Given the description of an element on the screen output the (x, y) to click on. 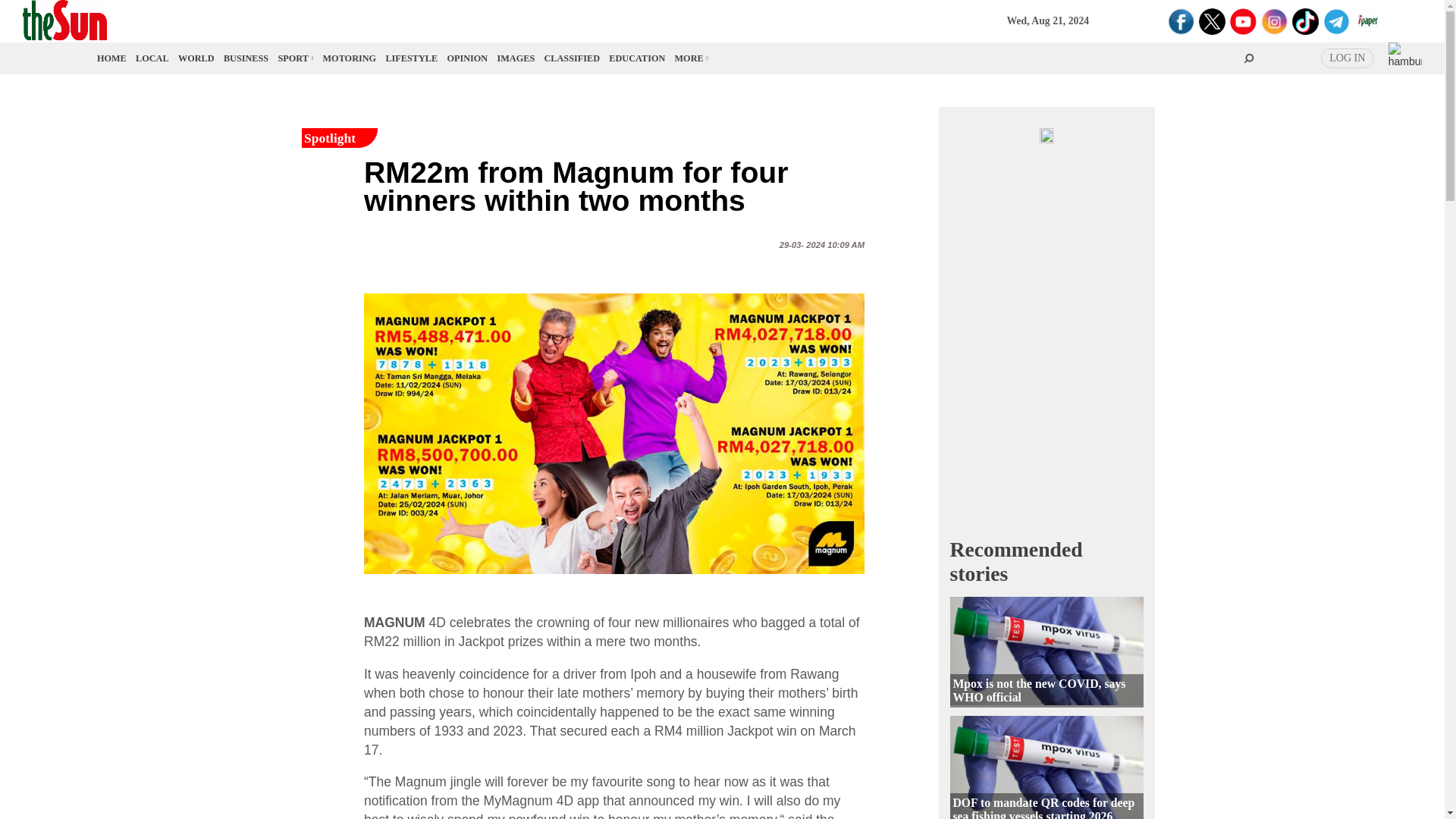
WORLD (195, 57)
LIFESTYLE (411, 57)
EDUCATION (636, 57)
IMAGES (516, 57)
CLASSIFIED (571, 57)
SPORT (294, 57)
LOG IN (1347, 57)
MOTORING (350, 57)
Local (151, 57)
Home (111, 57)
